Given the description of an element on the screen output the (x, y) to click on. 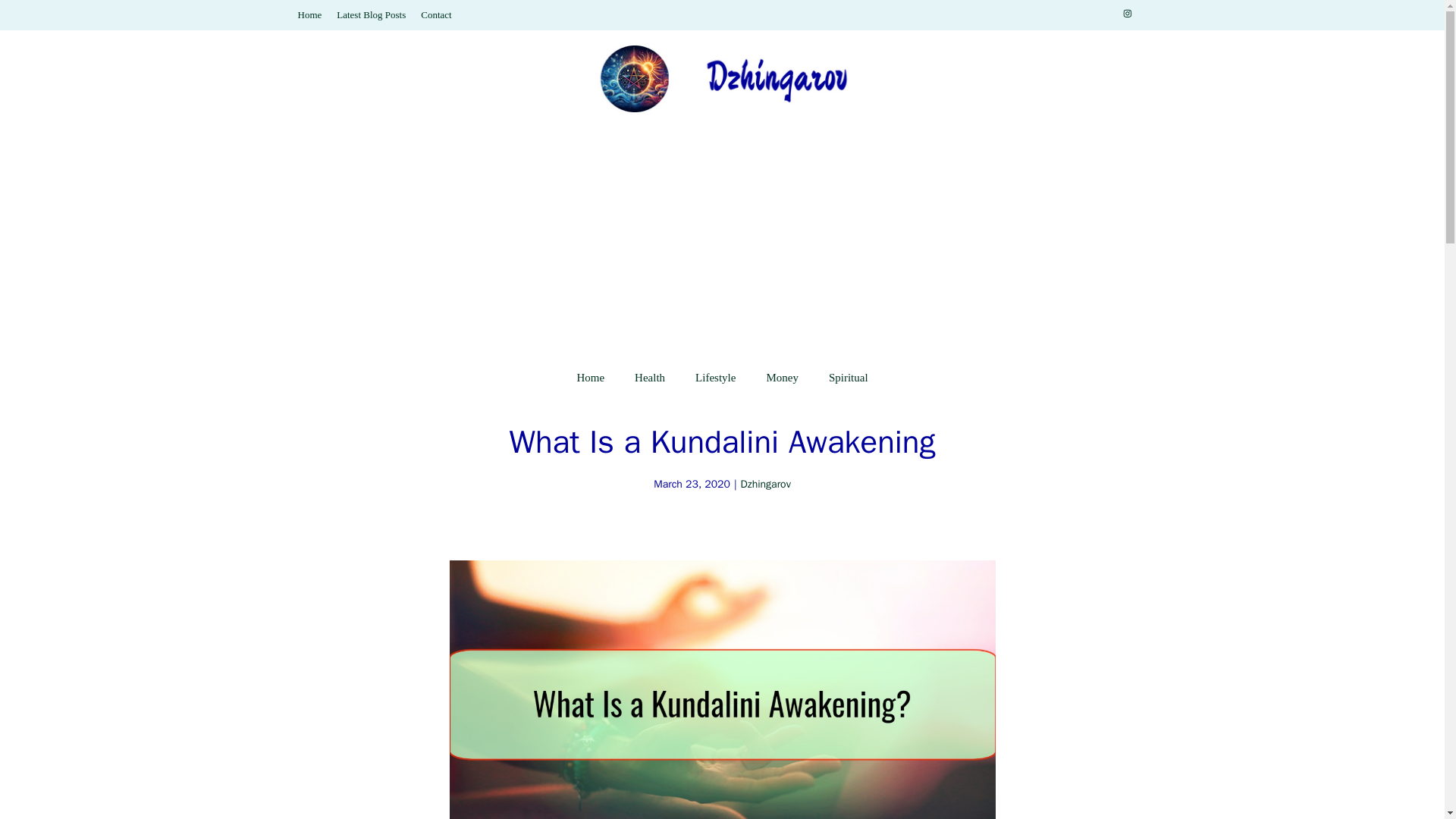
Spiritual (848, 377)
Lifestyle (715, 377)
Latest Blog Posts (371, 14)
Money (782, 377)
Health (649, 377)
Home (309, 14)
Contact (435, 14)
Home (590, 377)
Dzhingarov (765, 483)
